Given the description of an element on the screen output the (x, y) to click on. 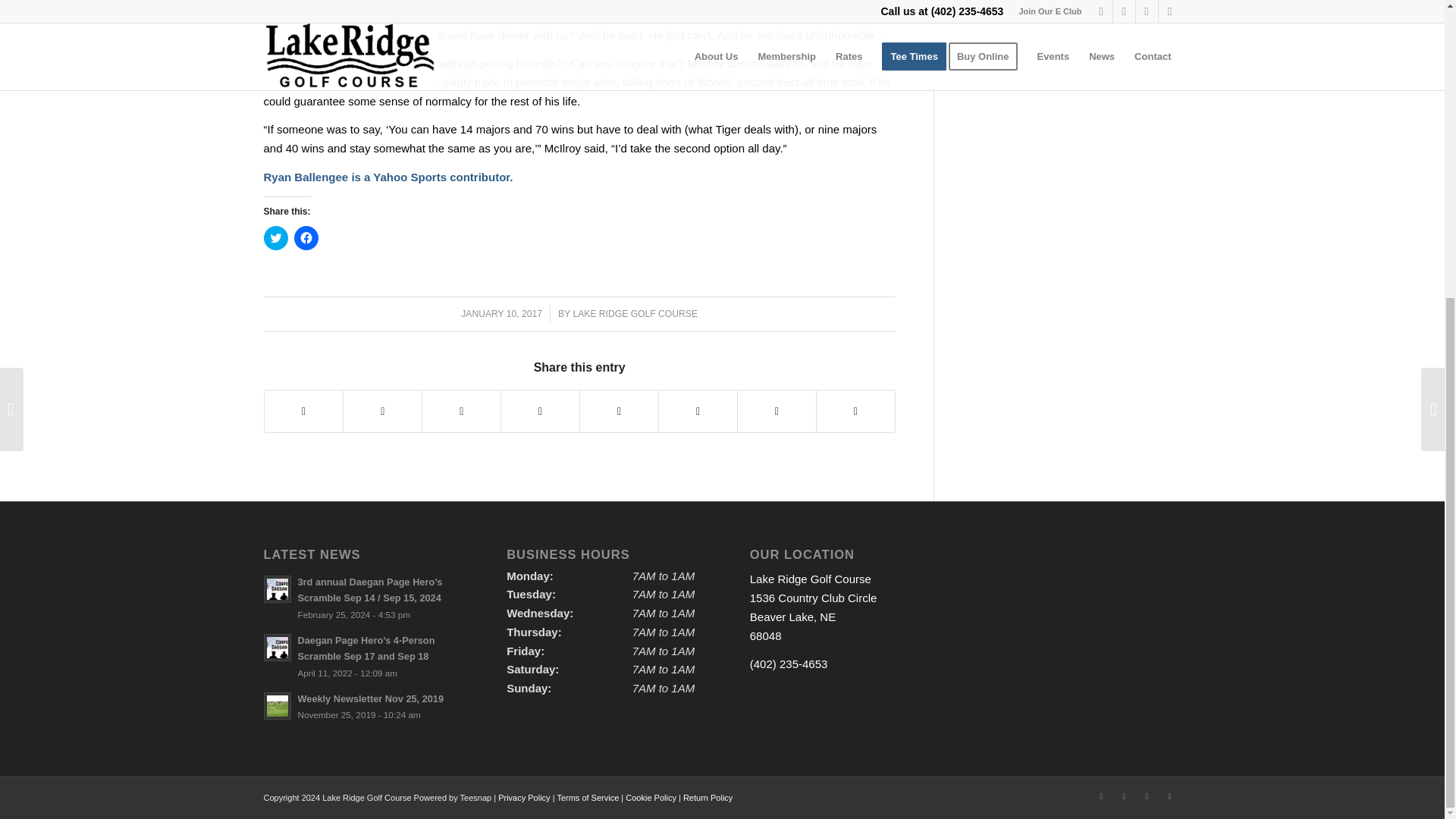
Posts by Lake Ridge Golf Course (634, 313)
Click to share on Facebook (306, 238)
Ryan Ballengee (306, 175)
Click to share on Twitter (275, 238)
LAKE RIDGE GOLF COURSE (634, 313)
